Given the description of an element on the screen output the (x, y) to click on. 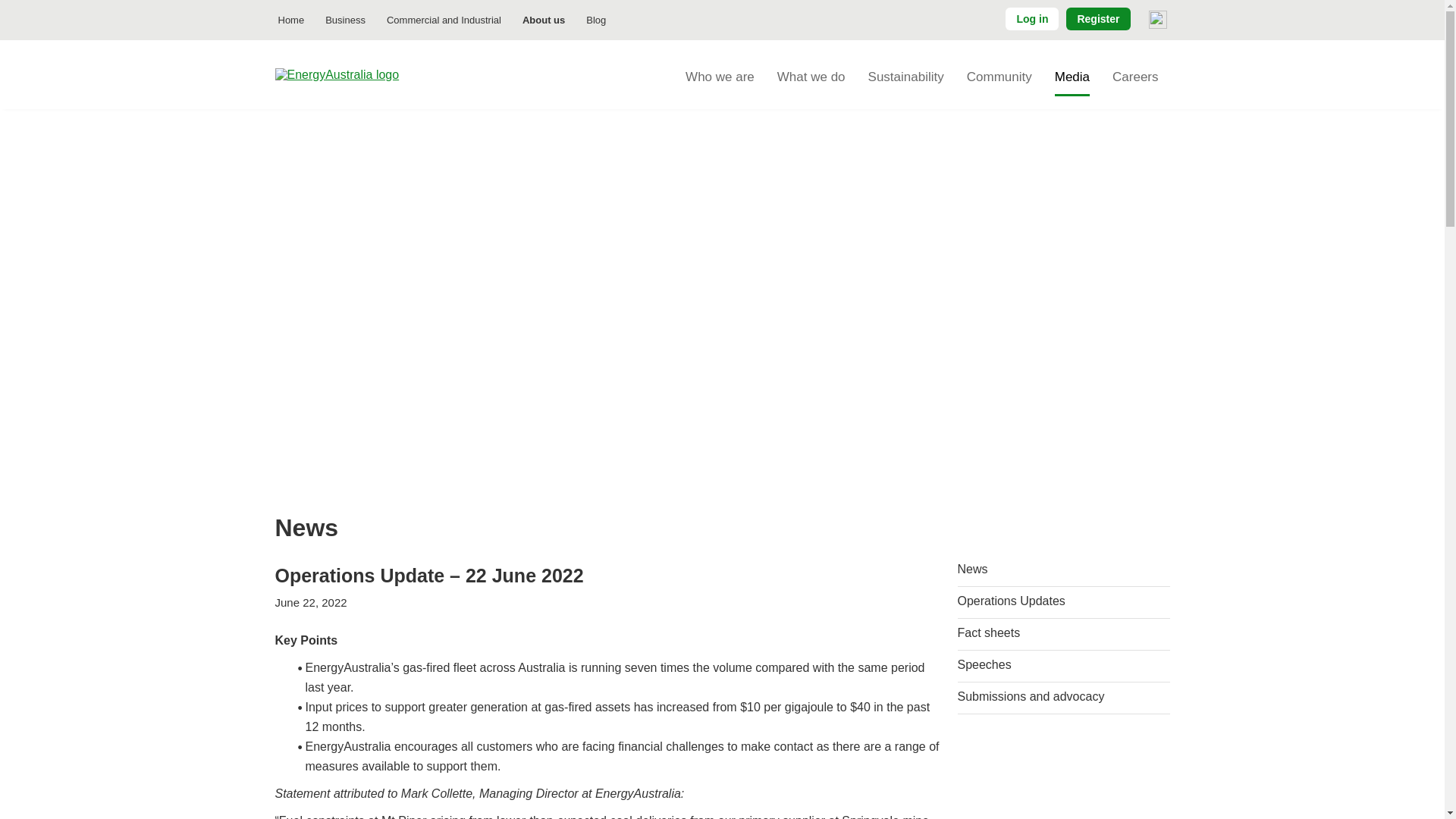
Home (360, 74)
EnergyAustralia blog (595, 20)
